Given the description of an element on the screen output the (x, y) to click on. 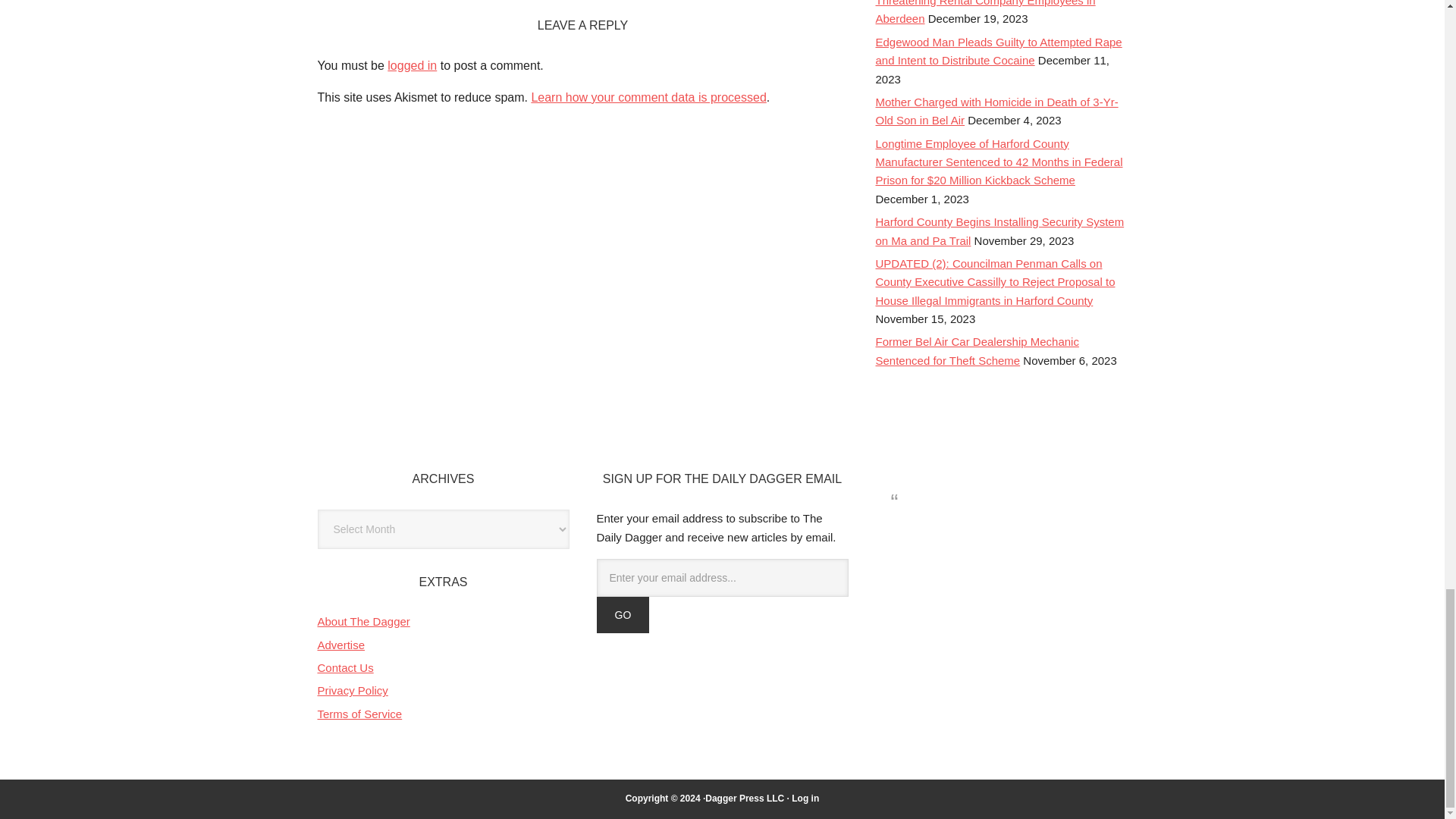
logged in (411, 65)
Learn how your comment data is processed (648, 97)
Go (622, 615)
